Given the description of an element on the screen output the (x, y) to click on. 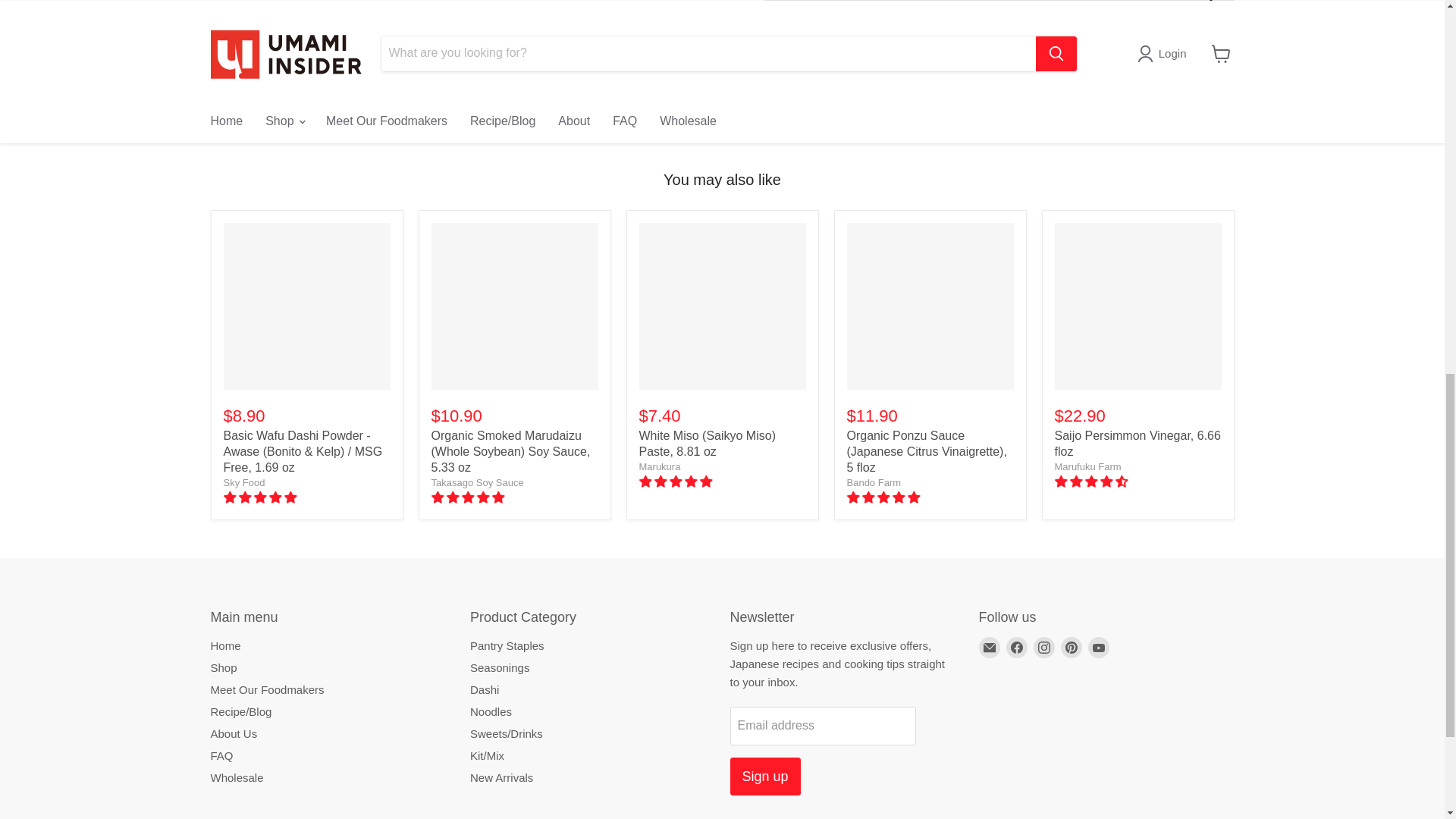
Instagram (1043, 647)
Pinterest (1070, 647)
Facebook (1016, 647)
Bando Farm (873, 482)
Takasago Soy Sauce (476, 482)
Marufuku Farm (1087, 466)
Sky Food (243, 482)
Email (988, 647)
YouTube (1097, 647)
Marukura (659, 466)
